Given the description of an element on the screen output the (x, y) to click on. 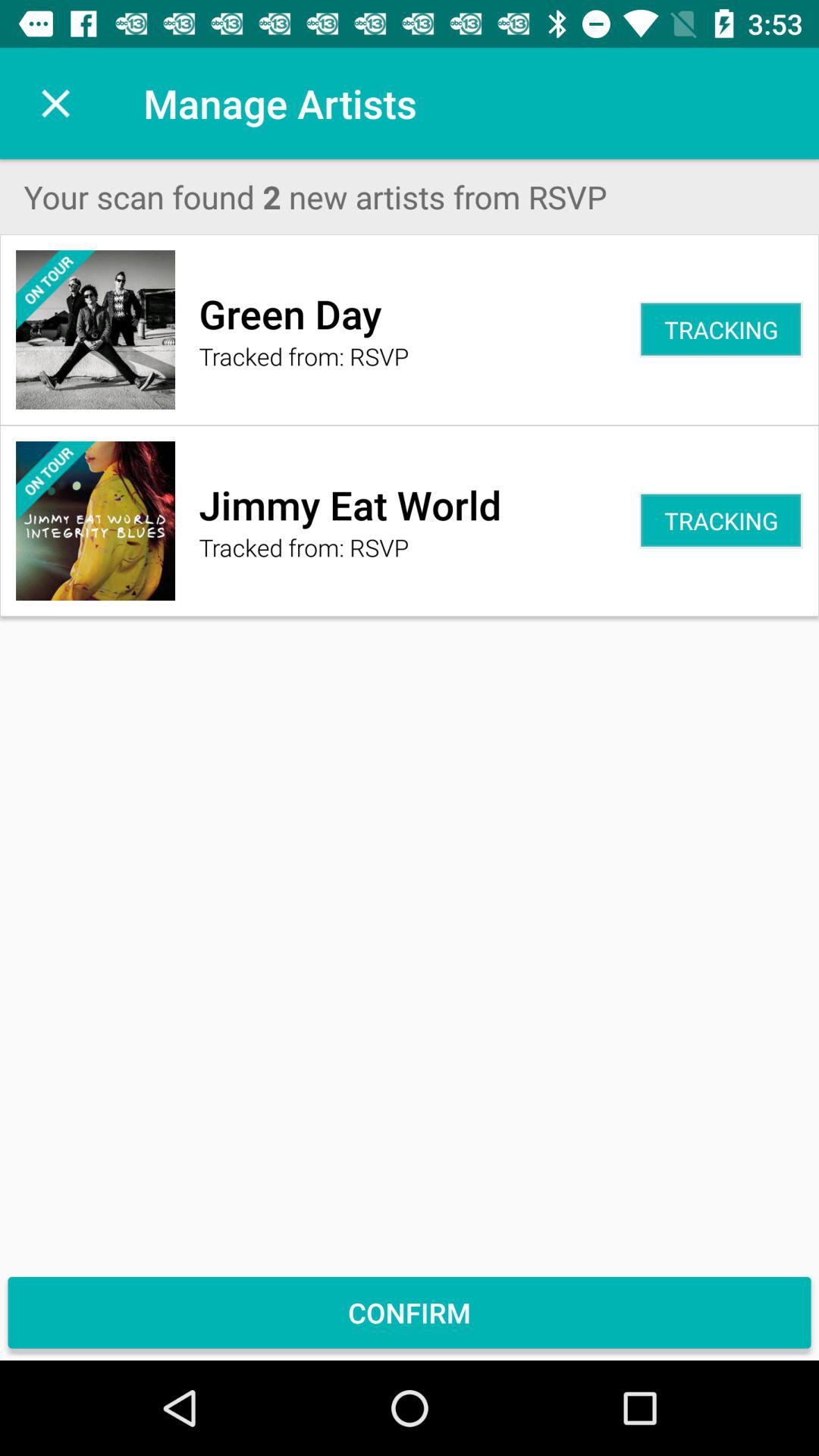
swipe until confirm icon (409, 1312)
